Given the description of an element on the screen output the (x, y) to click on. 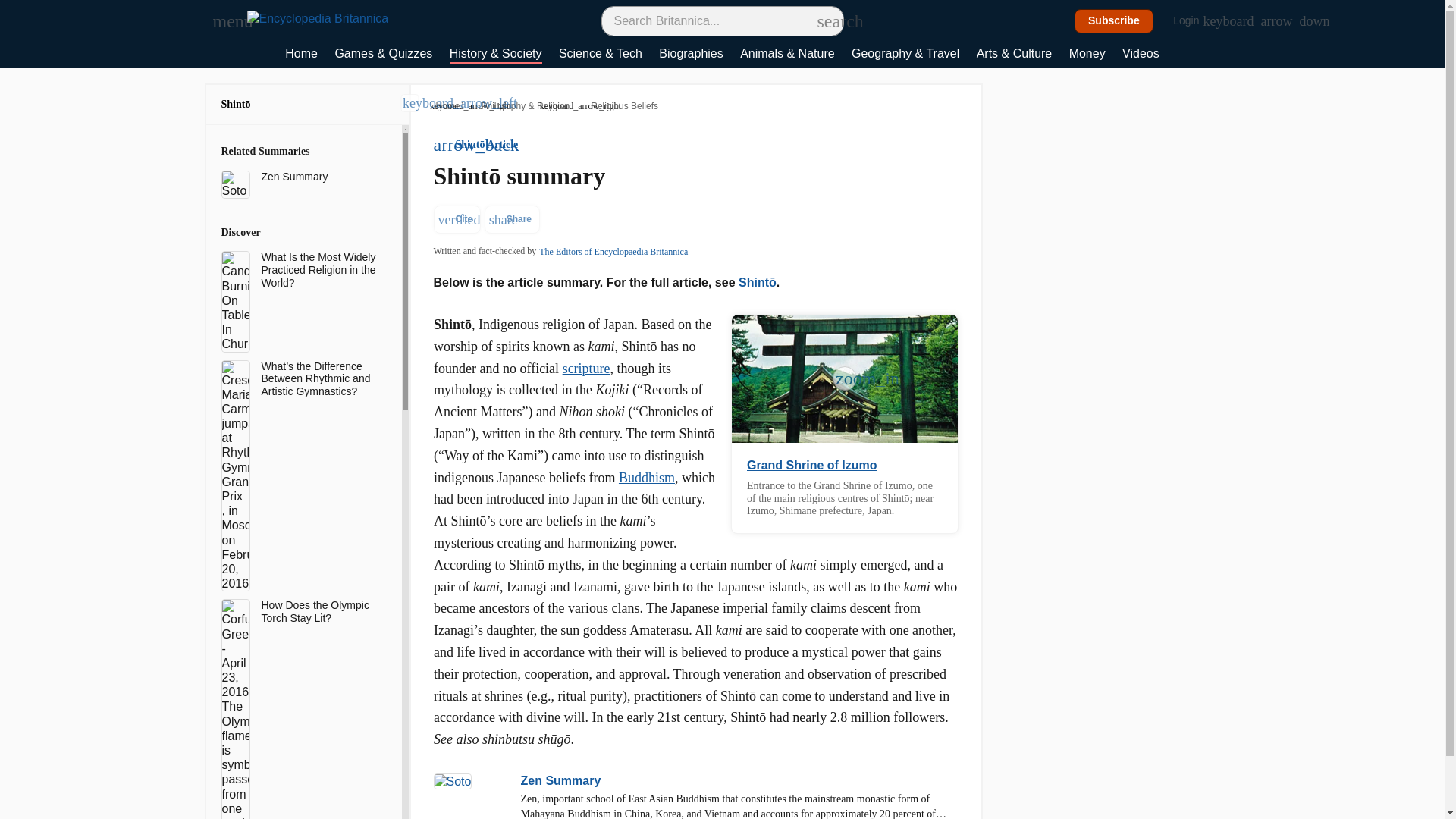
Click here to search (825, 20)
Login (1194, 20)
Subscribe (1114, 21)
